Given the description of an element on the screen output the (x, y) to click on. 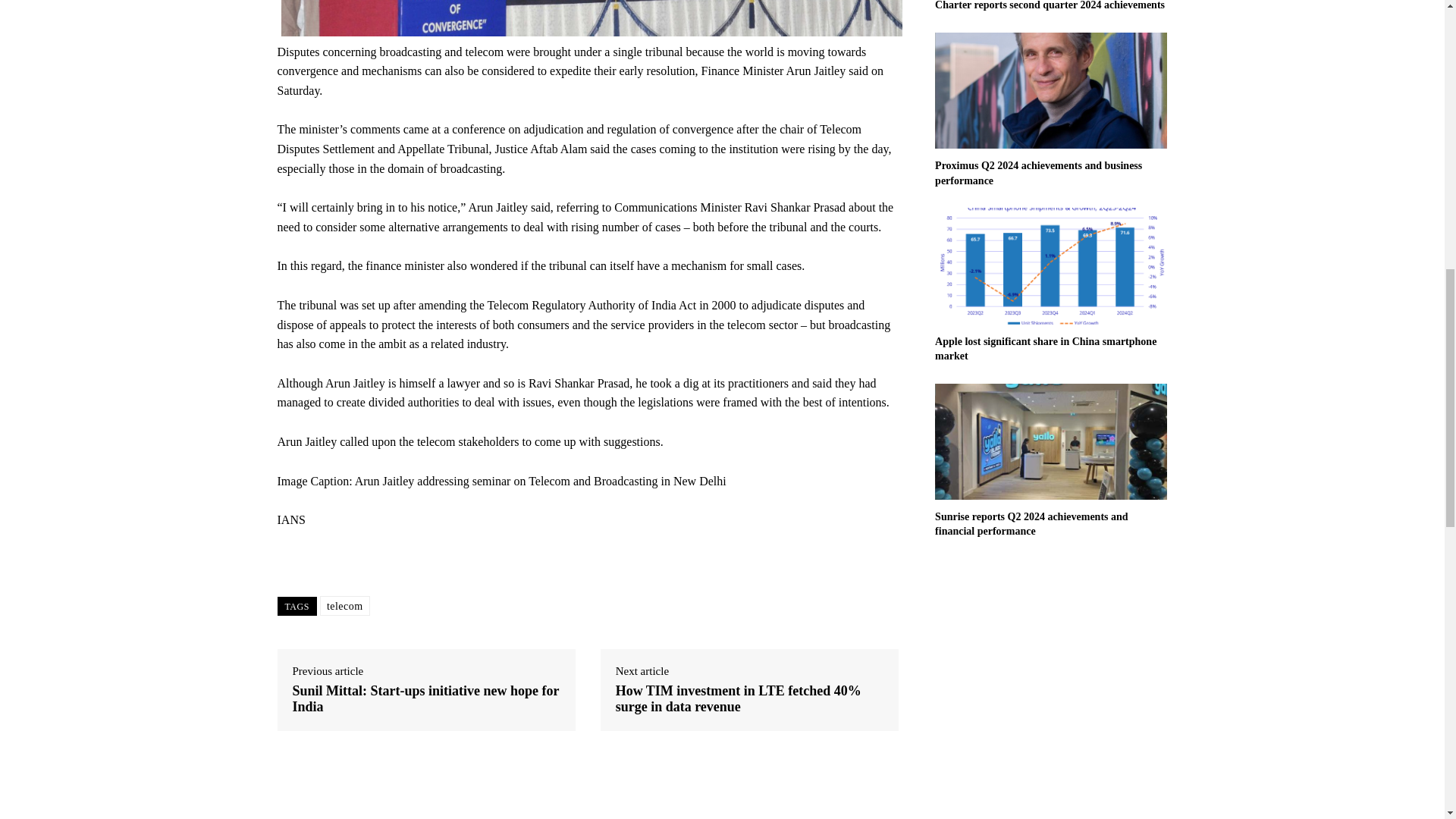
Apple lost significant share in China smartphone market (1045, 348)
Charter reports second quarter 2024 achievements (1049, 5)
Sunil Mittal: Start-ups initiative new hope for India (426, 699)
Apple lost significant share in China smartphone market (1045, 348)
Proximus Q2 2024 achievements and business performance (1037, 172)
Apple lost significant share in China smartphone market (1050, 265)
telecom (344, 605)
Charter reports second quarter 2024 achievements (1049, 5)
Proximus Q2 2024 achievements and business performance (1037, 172)
Proximus Q2 2024 achievements and business performance (1050, 90)
